Given the description of an element on the screen output the (x, y) to click on. 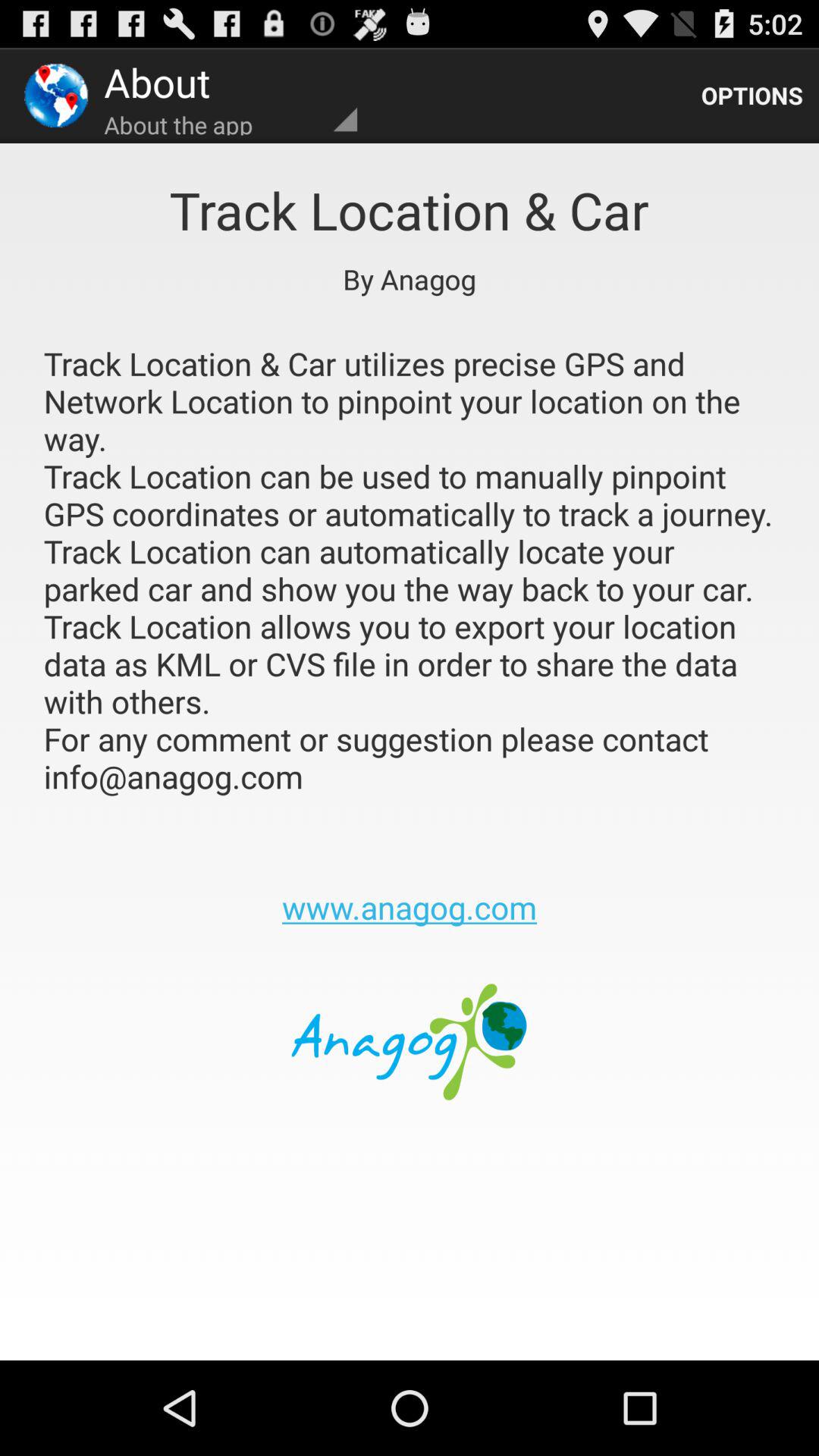
click the app to the right of about the app icon (752, 95)
